Given the description of an element on the screen output the (x, y) to click on. 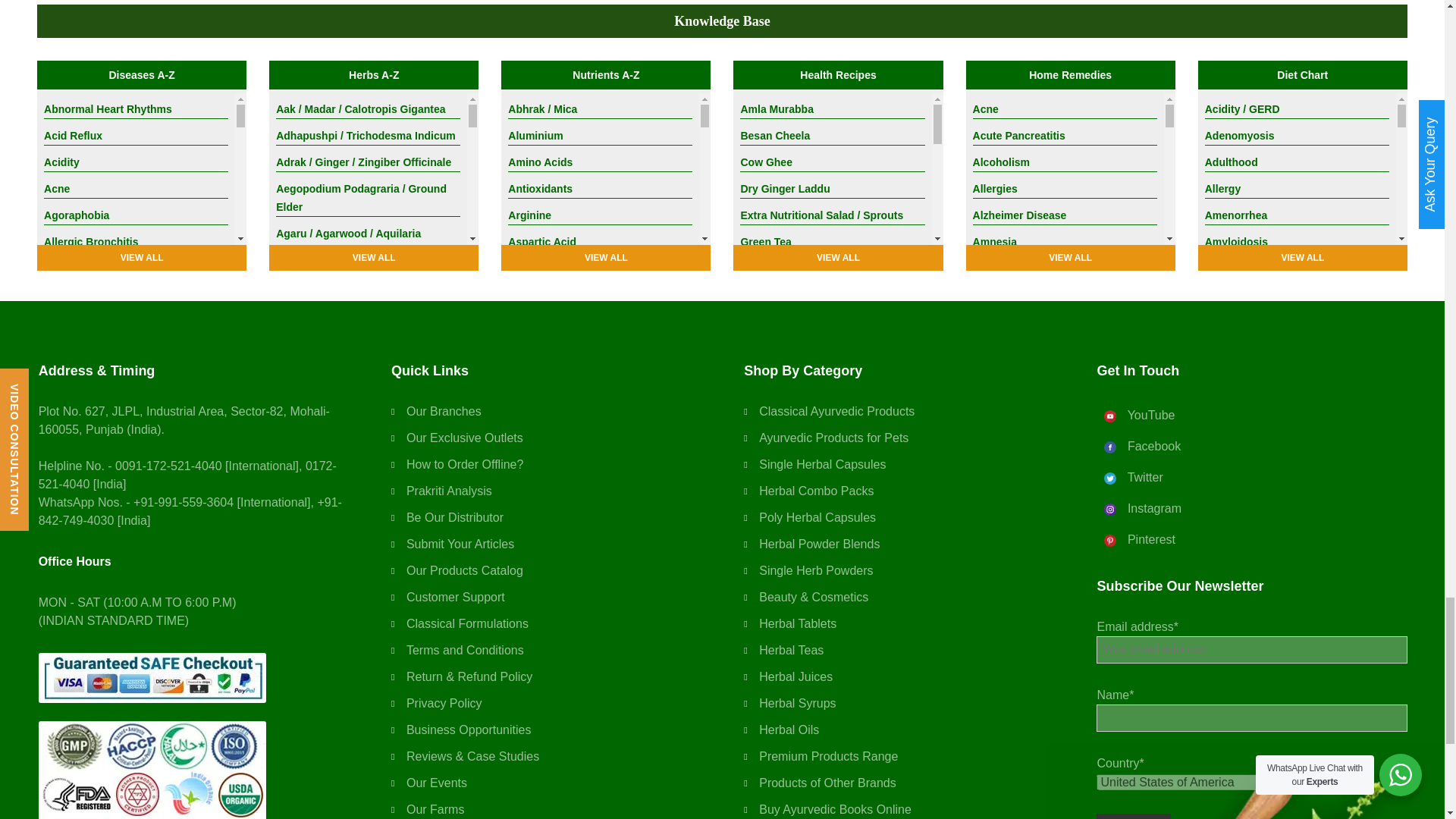
Subscribe (1133, 816)
